Given the description of an element on the screen output the (x, y) to click on. 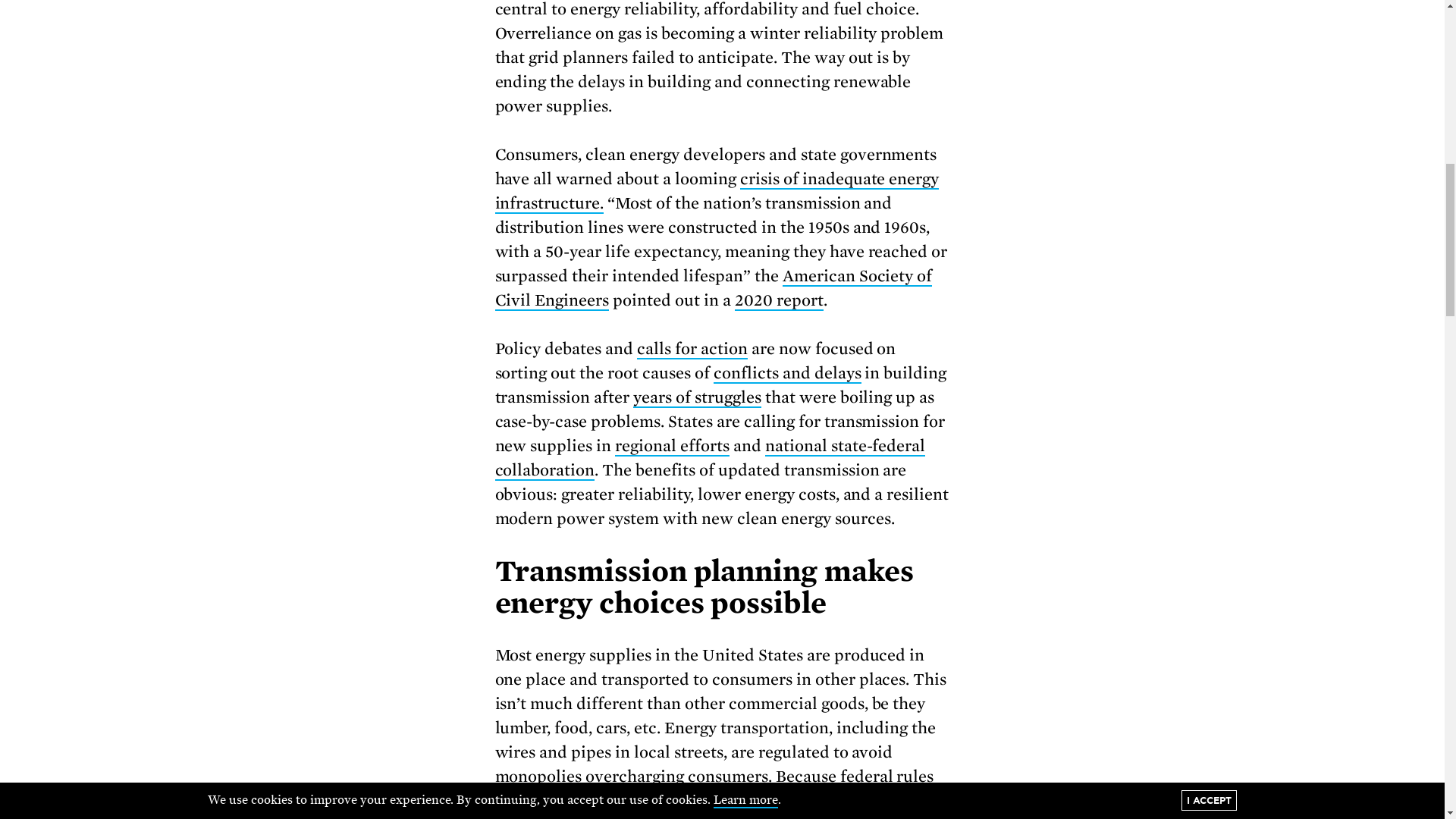
regional efforts (671, 446)
2020 report (779, 301)
calls for action (692, 349)
years of struggles (697, 397)
American Society of Civil Engineers (713, 288)
conflicts and delays (787, 373)
crisis of inadequate energy infrastructure. (717, 191)
national state-federal collaboration (709, 458)
